Given the description of an element on the screen output the (x, y) to click on. 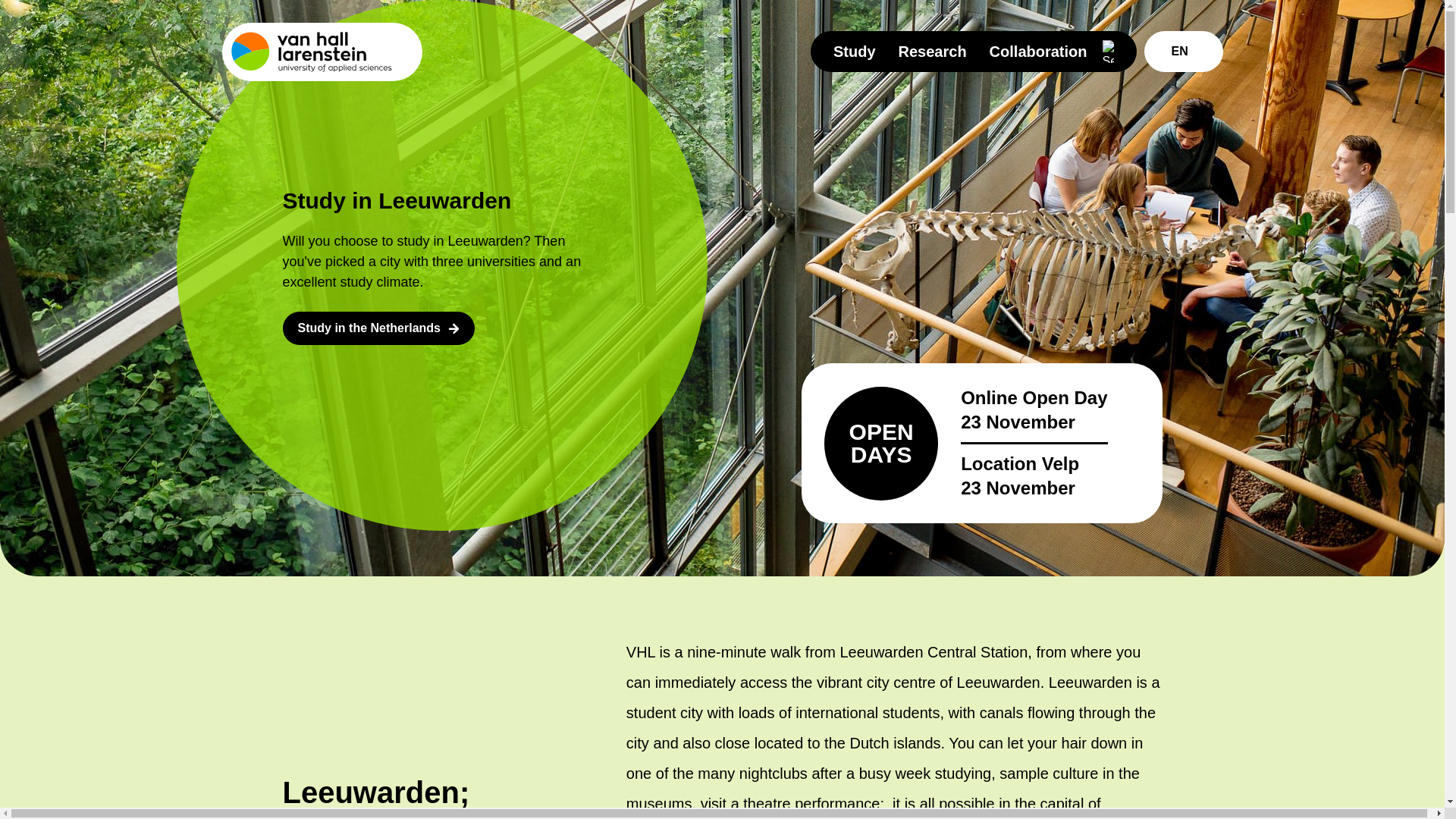
Research (932, 51)
EN (1182, 51)
Study (854, 51)
Back to the homepage (321, 51)
Collaboration (1038, 51)
